Given the description of an element on the screen output the (x, y) to click on. 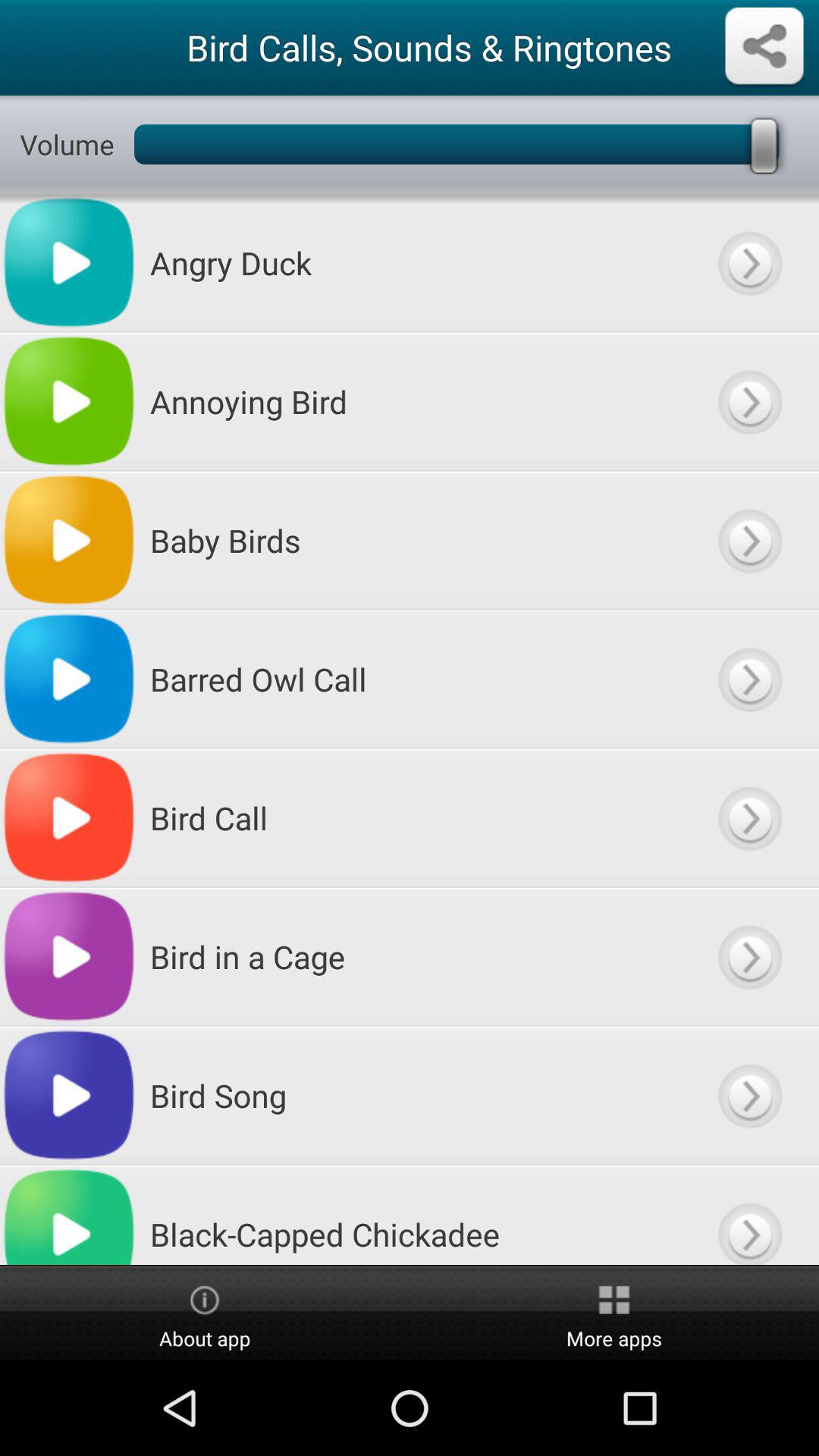
next page (749, 262)
